Given the description of an element on the screen output the (x, y) to click on. 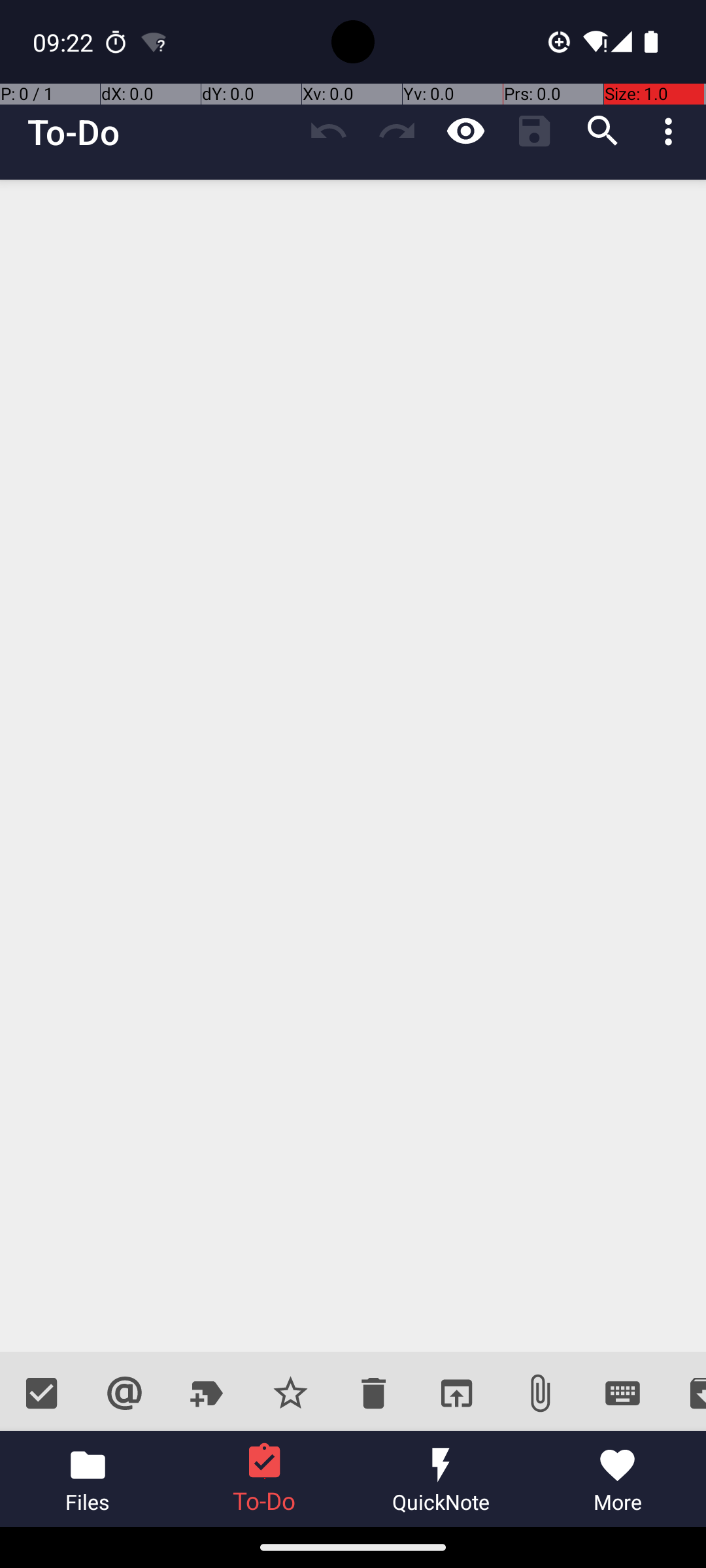
09:22 Element type: android.widget.TextView (64, 41)
